Given the description of an element on the screen output the (x, y) to click on. 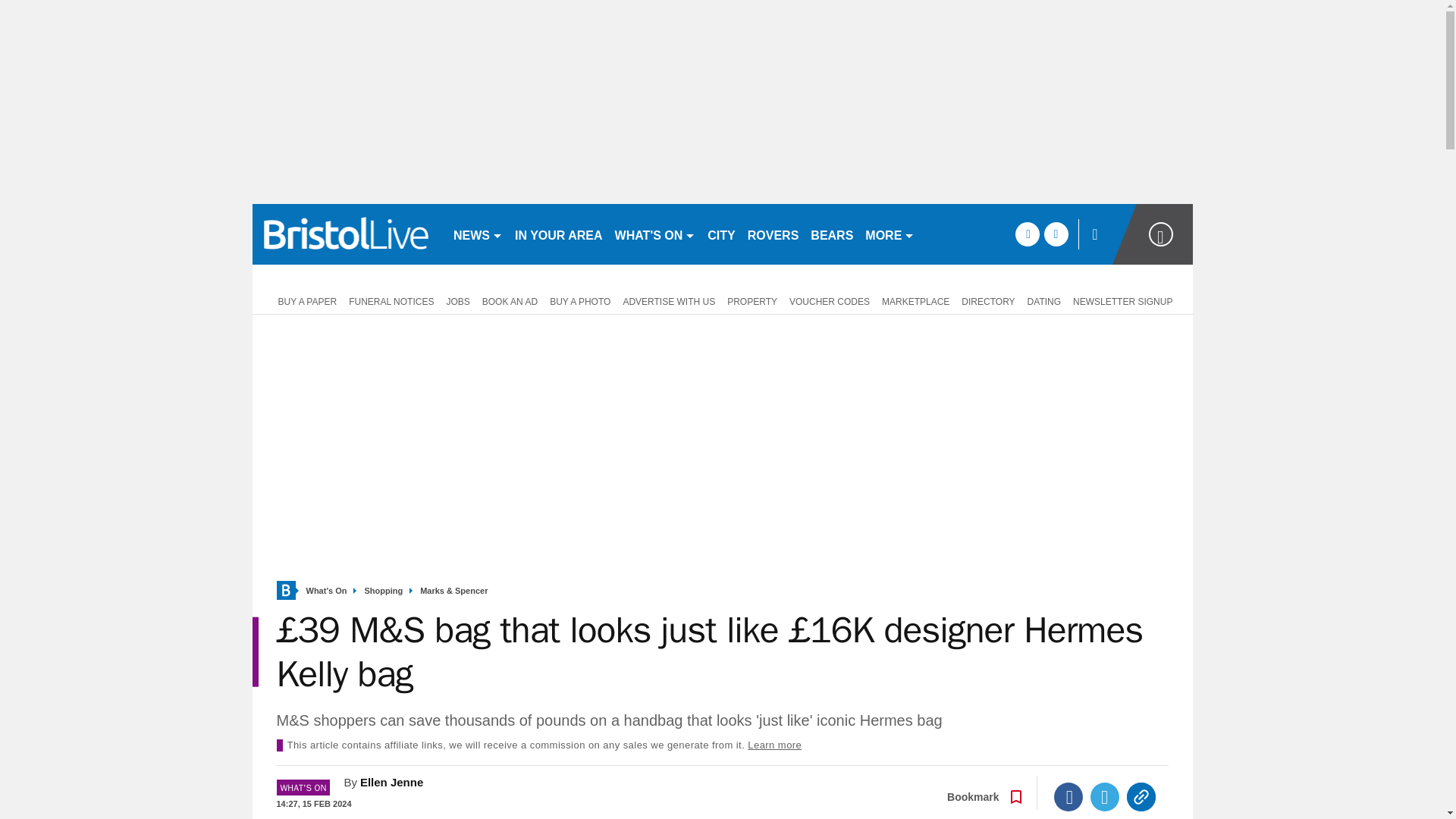
bristolpost (345, 233)
Twitter (1104, 796)
Facebook (1068, 796)
NEWS (477, 233)
IN YOUR AREA (558, 233)
ROVERS (773, 233)
MORE (889, 233)
facebook (1026, 233)
BEARS (832, 233)
WHAT'S ON (654, 233)
